Given the description of an element on the screen output the (x, y) to click on. 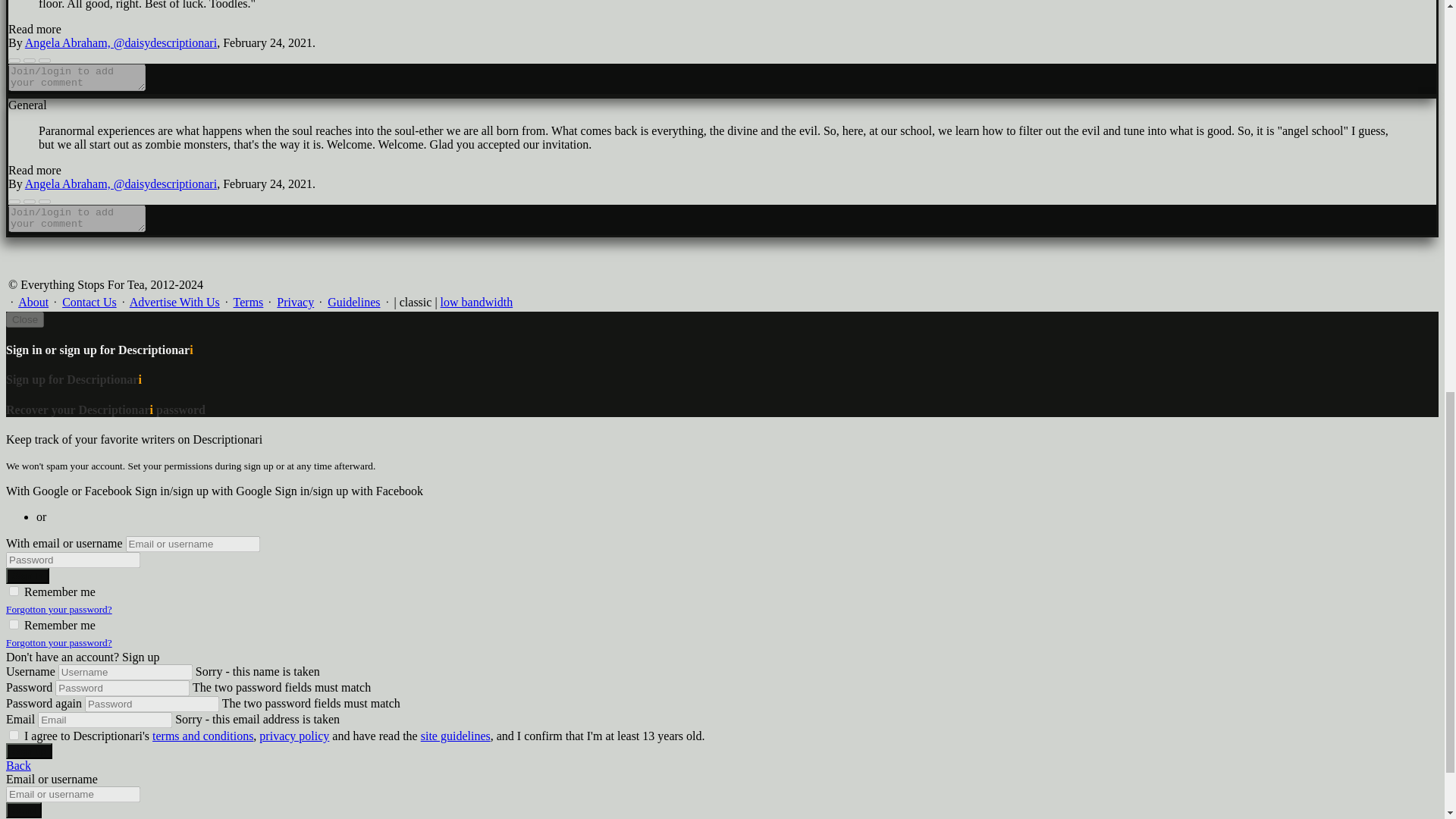
1 (13, 591)
Read more (34, 169)
Read more (34, 29)
1 (13, 624)
on (13, 735)
